Given the description of an element on the screen output the (x, y) to click on. 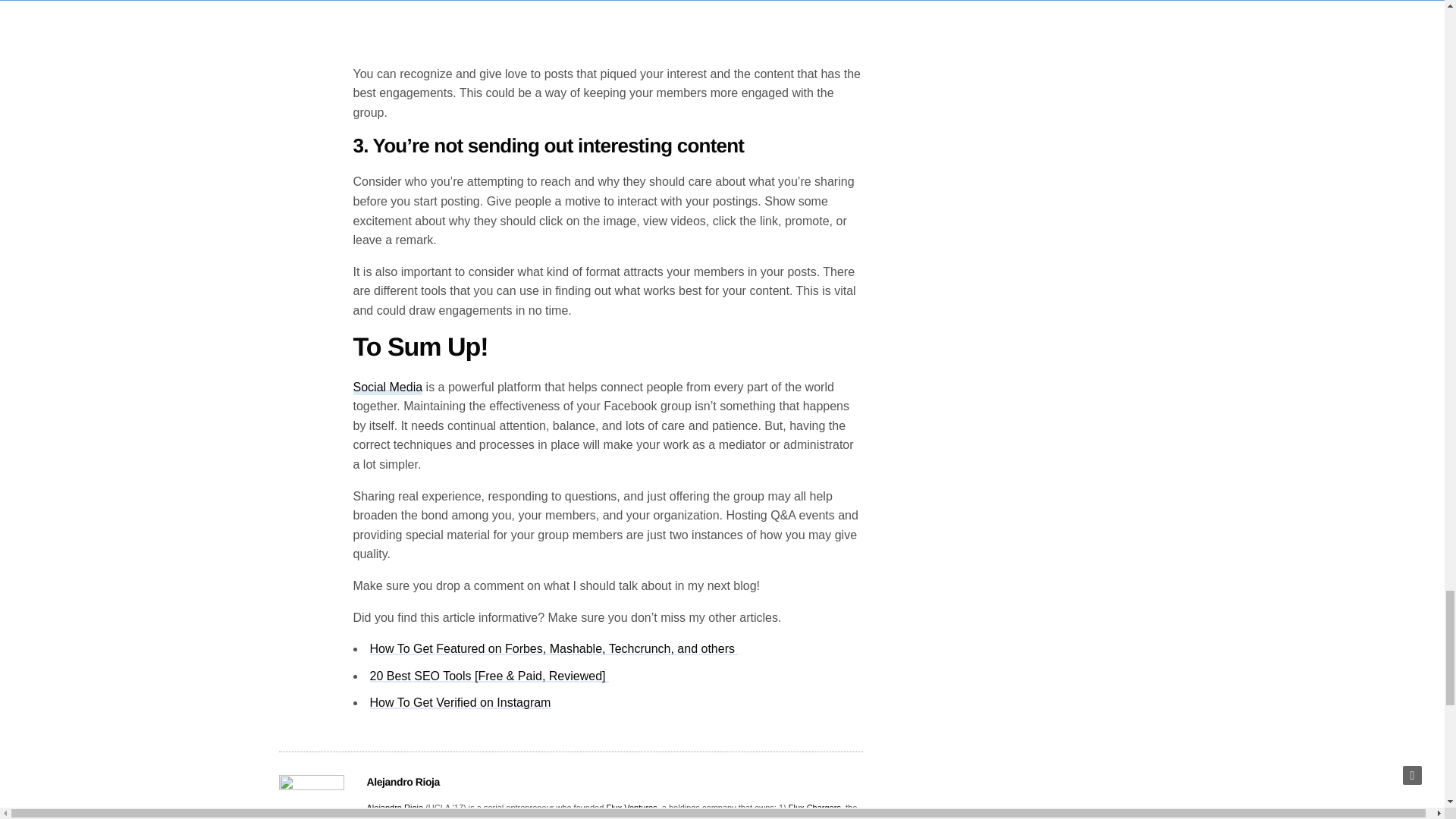
Social Media (388, 387)
How To Get Verified on Instagram (460, 702)
